Given the description of an element on the screen output the (x, y) to click on. 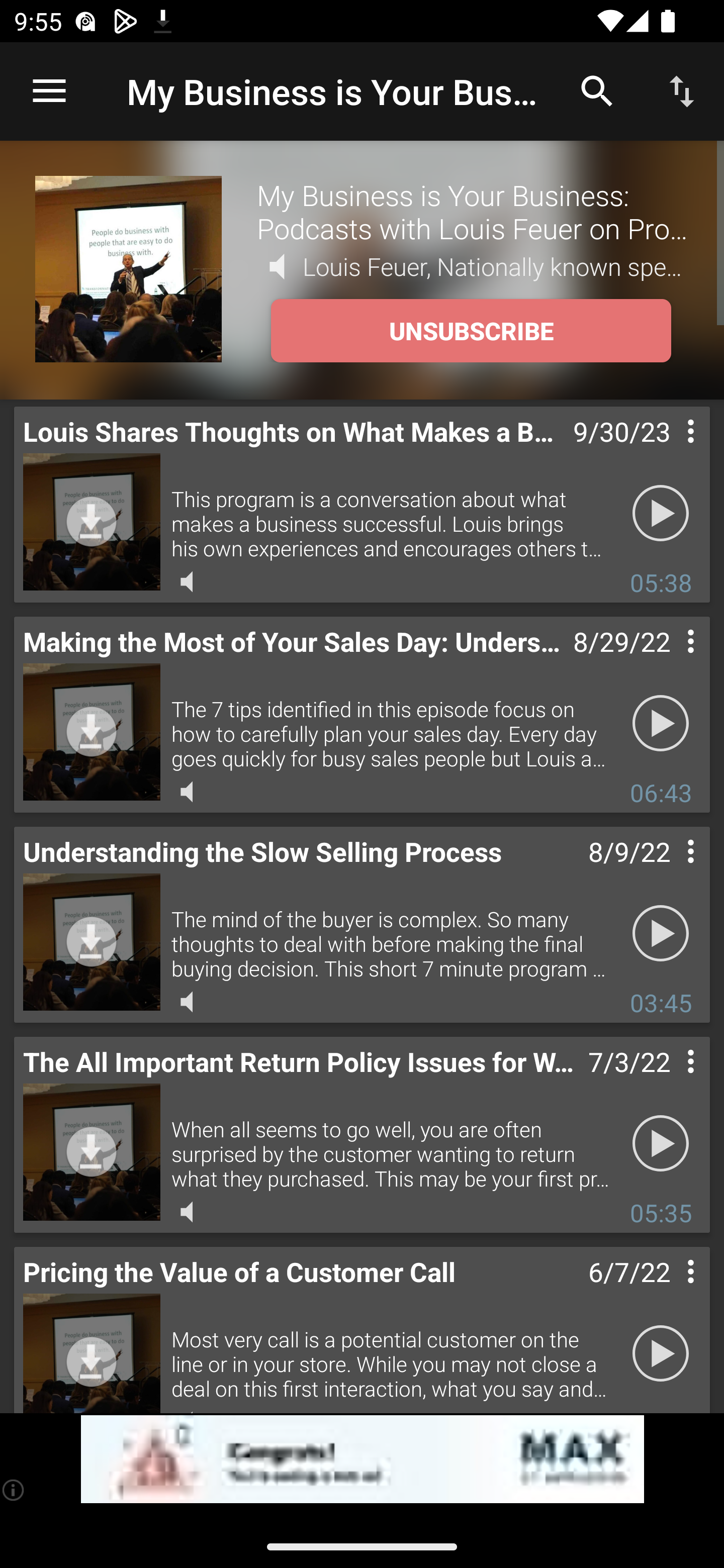
Open navigation sidebar (49, 91)
Search (597, 90)
Sort (681, 90)
UNSUBSCRIBE (470, 330)
Contextual menu (668, 451)
Play (660, 513)
Contextual menu (668, 661)
Play (660, 723)
Contextual menu (668, 870)
Play (660, 933)
Contextual menu (668, 1080)
Play (660, 1143)
Contextual menu (668, 1290)
Play (660, 1353)
app-monetization (362, 1459)
(i) (14, 1489)
